Given the description of an element on the screen output the (x, y) to click on. 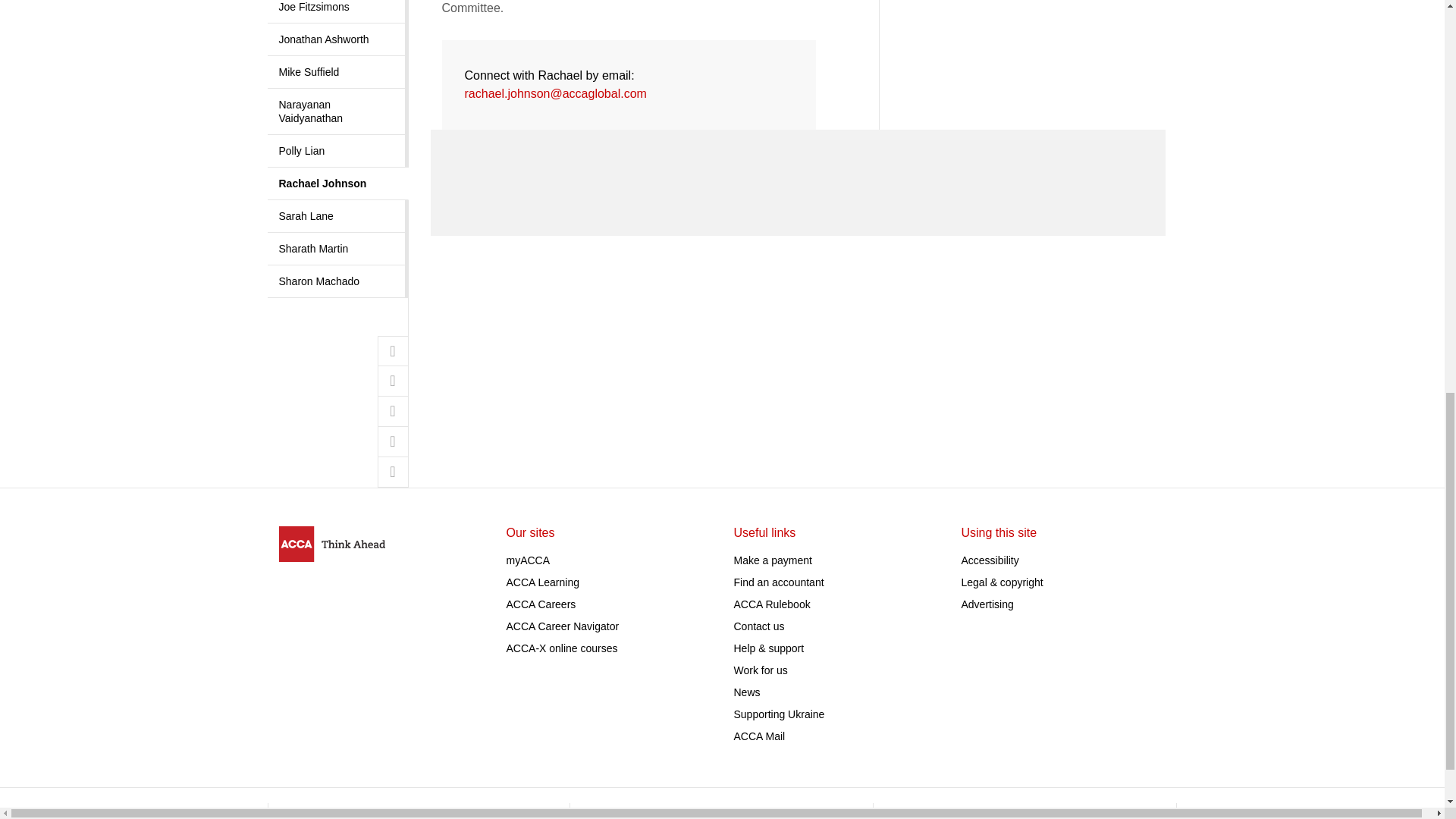
ACCA Careers (541, 604)
ACCA-X online courses (561, 648)
ACCA Rulebook (771, 604)
Make a payment (772, 560)
ACCA Learning (542, 582)
myACCA (528, 560)
Work for us (760, 670)
ACCA Mail (759, 736)
Supporting Ukraine (779, 714)
ACCA Career Navigator (563, 625)
Contact us (758, 625)
Find an accountant (778, 582)
News (746, 692)
Accessibility (989, 560)
